Given the description of an element on the screen output the (x, y) to click on. 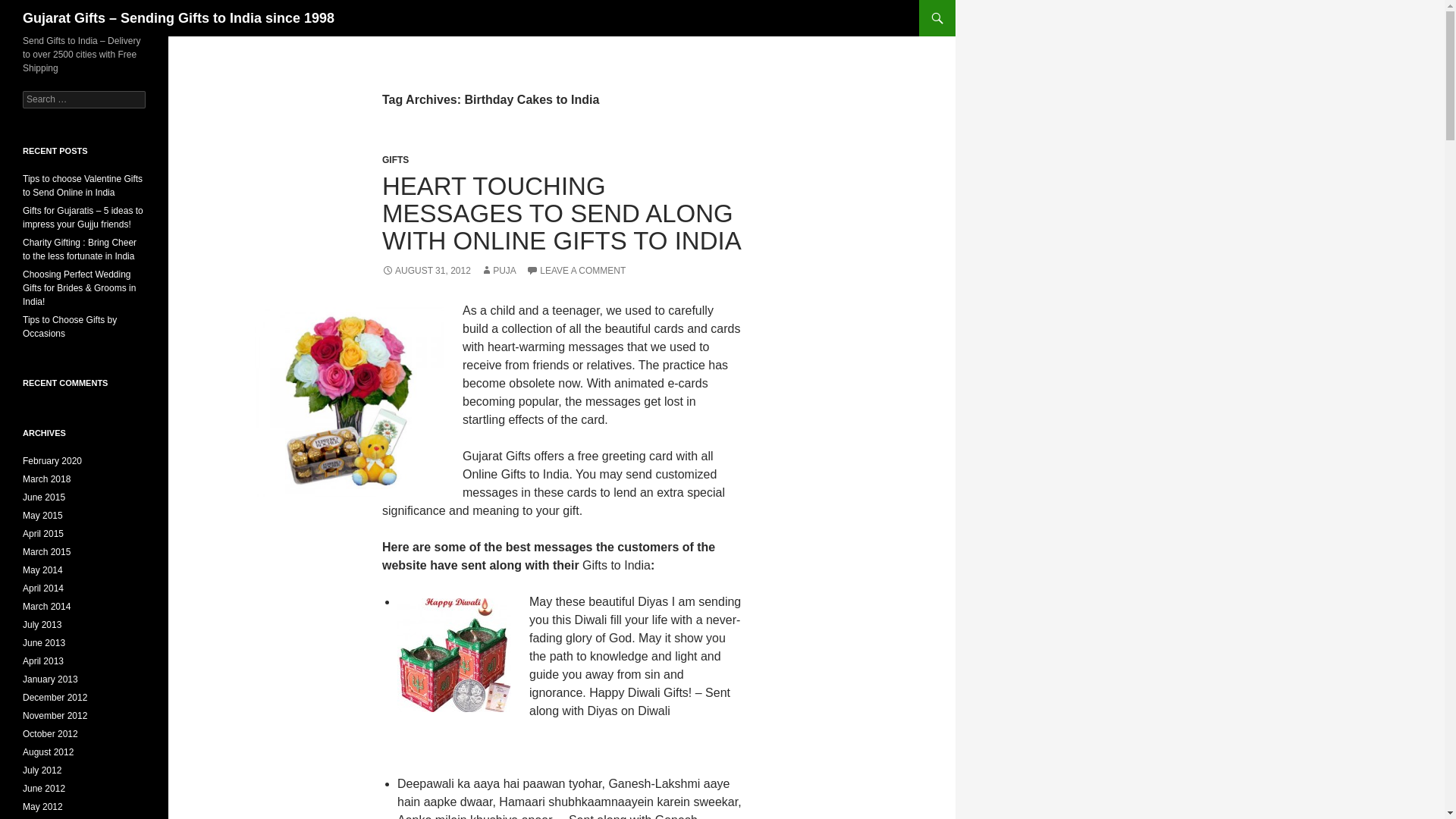
GIFTS (395, 159)
Diwali Diya (454, 654)
Send Flowers Gifts to India (349, 401)
PUJA (498, 270)
Search (23, 9)
LEAVE A COMMENT (575, 270)
AUGUST 31, 2012 (425, 270)
SKIP TO CONTENT (964, 6)
